Given the description of an element on the screen output the (x, y) to click on. 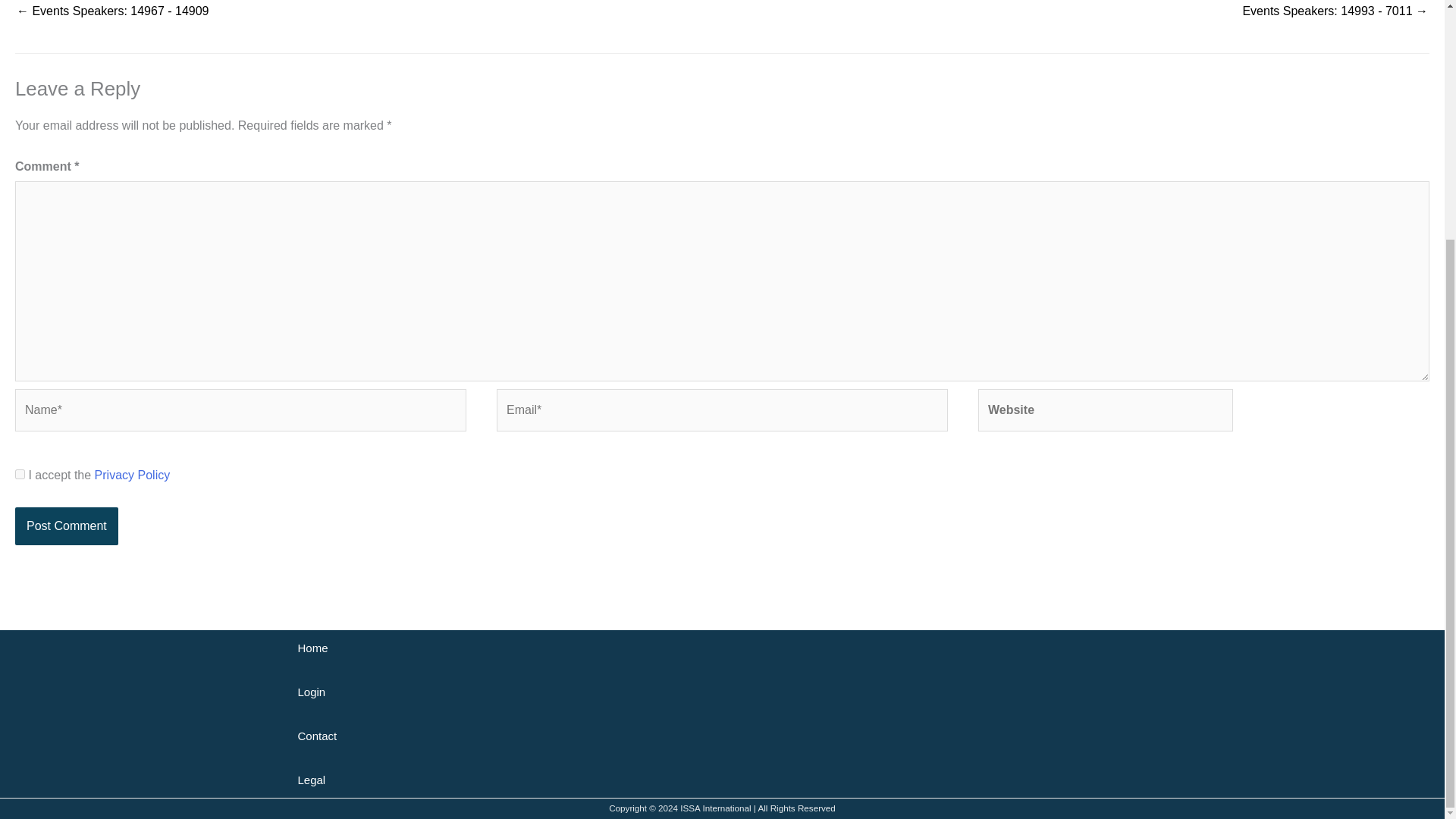
Post Comment (65, 525)
Events Speakers: 14967 - 14909 (112, 13)
Events Speakers: 14993 - 7011 (1334, 13)
1 (19, 474)
